Given the description of an element on the screen output the (x, y) to click on. 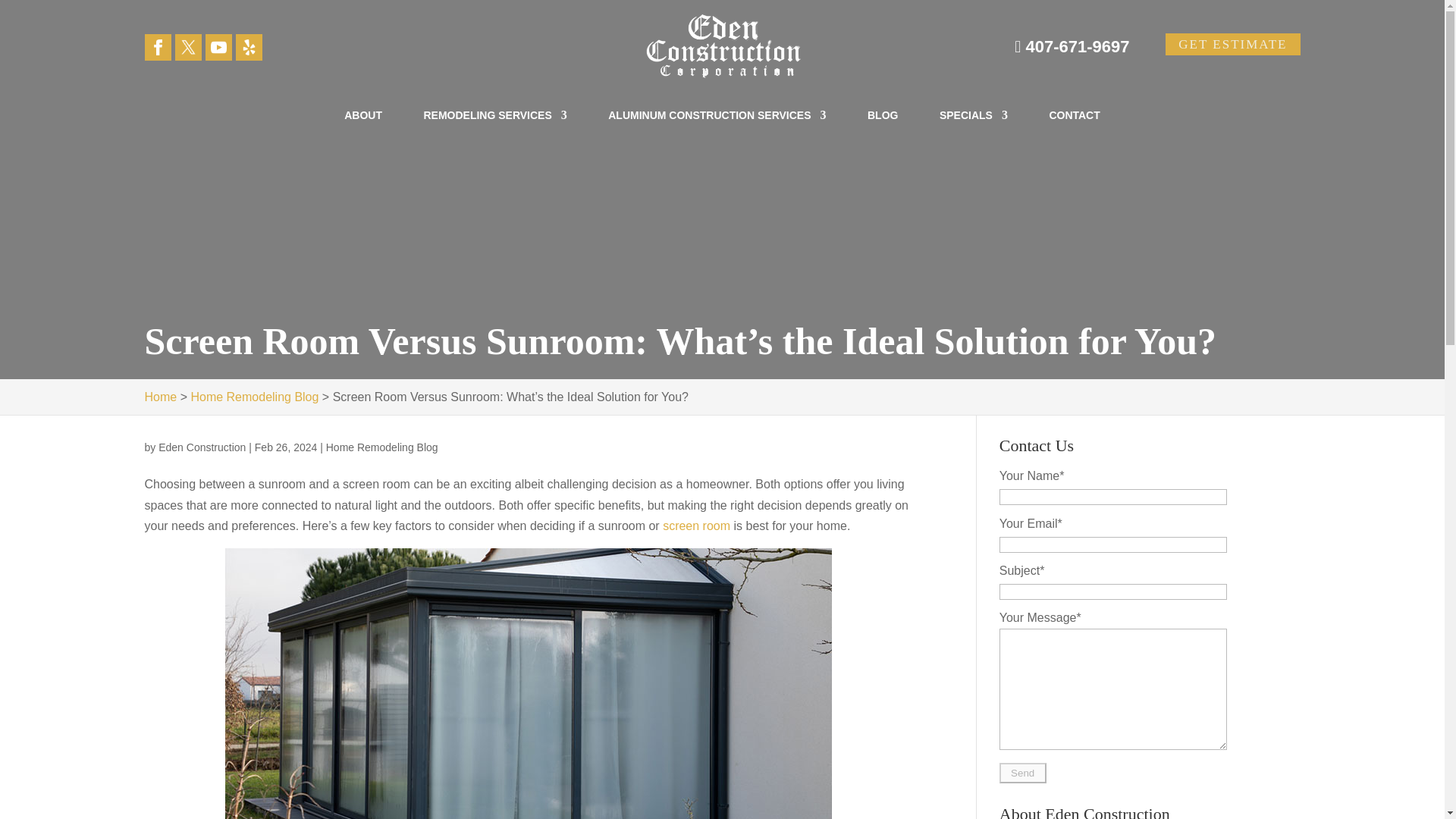
Twitter (187, 47)
Yelp (248, 47)
screen room (696, 525)
CONTACT (1073, 124)
REMODELING SERVICES (494, 124)
Go to the Home Remodeling Blog category archives. (254, 396)
Facebook (157, 47)
Home (160, 396)
GET ESTIMATE (1233, 44)
Posts by Eden Construction (202, 447)
Eden Construction (202, 447)
Yelp (249, 47)
SPECIALS (973, 124)
Home Remodeling Blog (382, 447)
Go to Eden Construction, Orlando, FL. (160, 396)
